Given the description of an element on the screen output the (x, y) to click on. 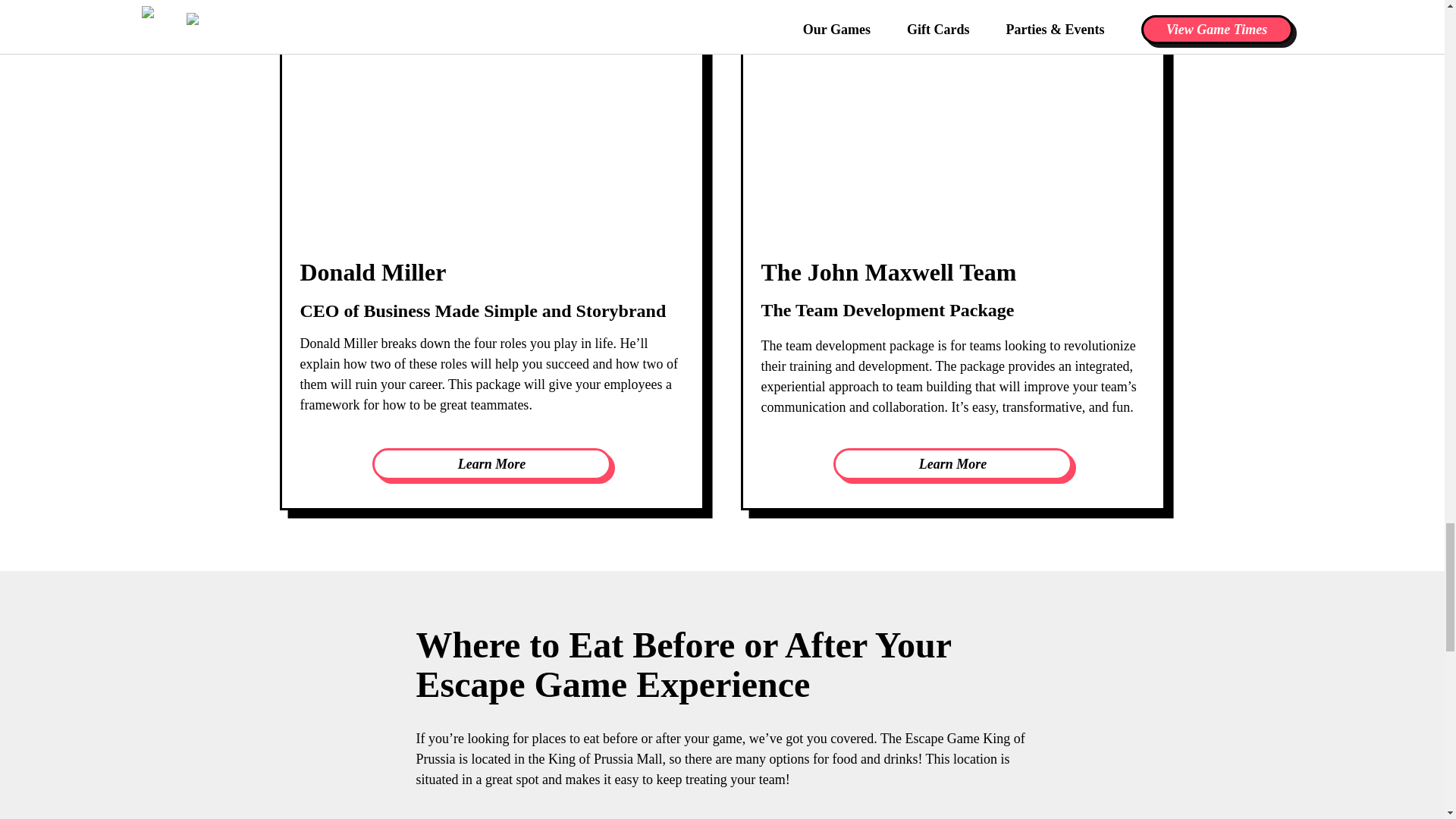
Yard House (449, 817)
Learn More (491, 463)
Learn More (951, 463)
